Given the description of an element on the screen output the (x, y) to click on. 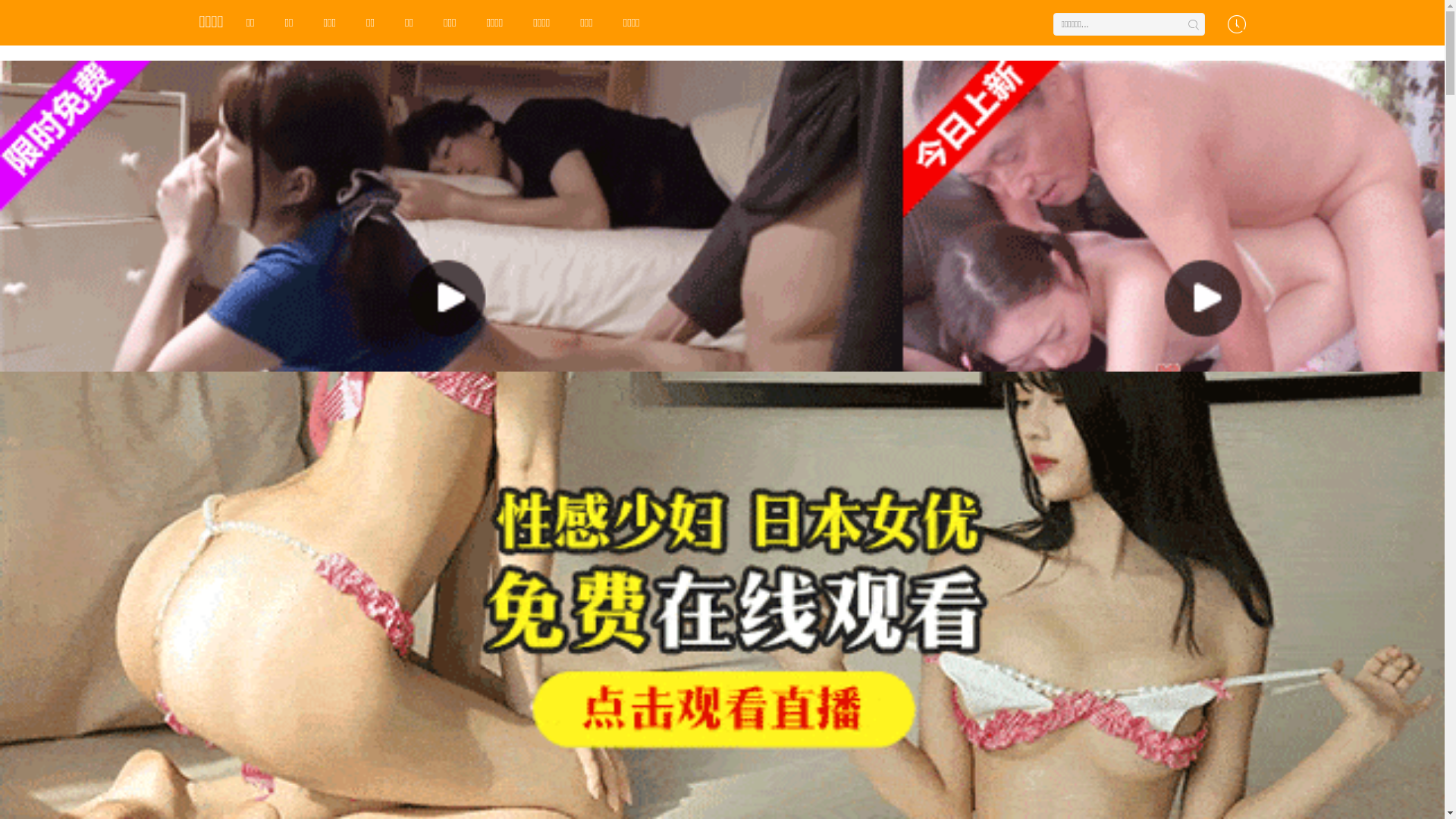
HD Element type: text (786, 206)
HD Element type: text (399, 206)
HD Element type: text (657, 206)
HD Element type: text (399, 435)
HD Element type: text (915, 435)
HD Element type: text (786, 435)
HD Element type: text (657, 435)
HD Element type: text (528, 435)
HD Element type: text (528, 206)
HD Element type: text (270, 435)
HD
5peace Element type: text (1108, 248)
